Given the description of an element on the screen output the (x, y) to click on. 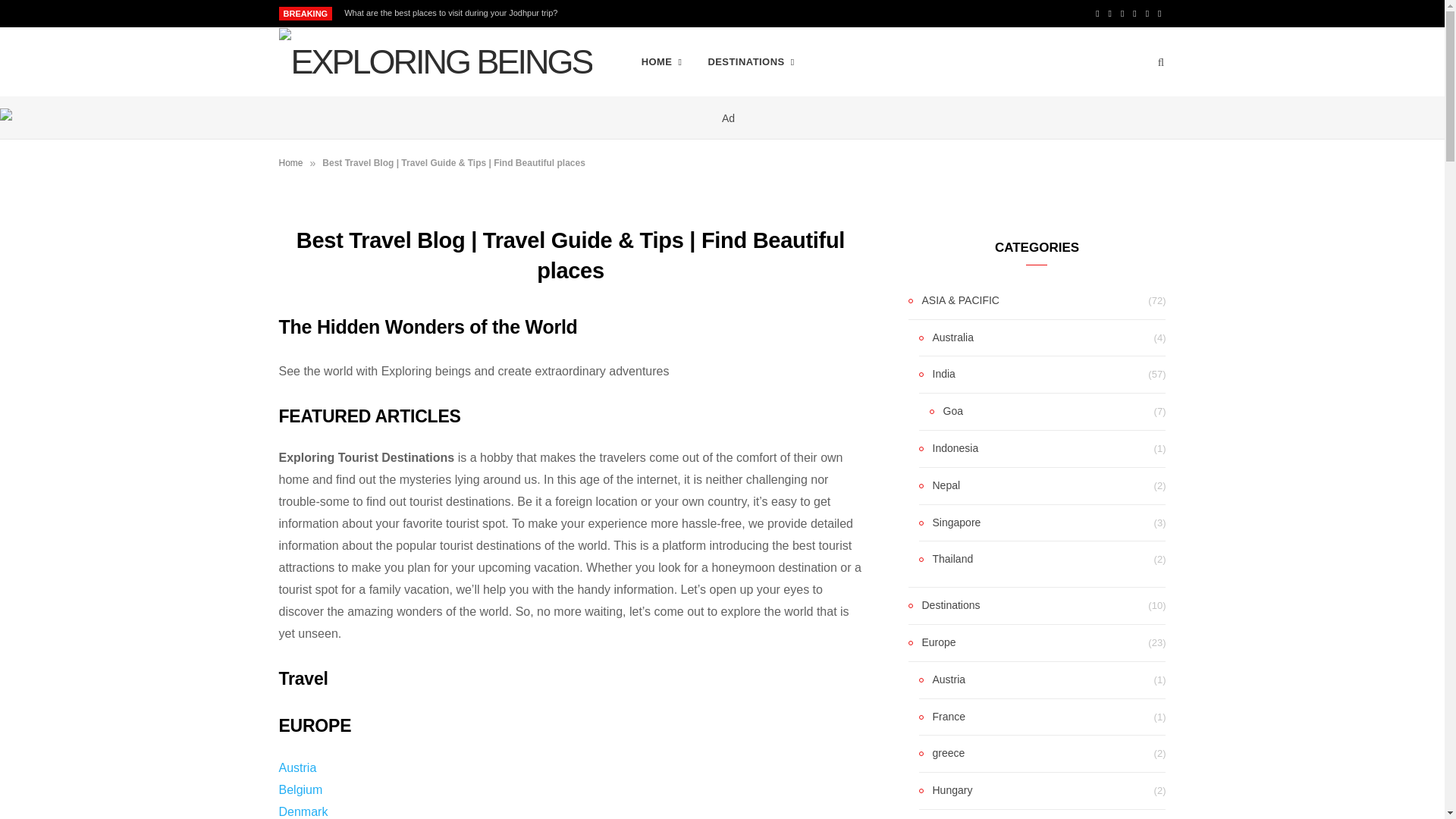
What are the best places to visit during your Jodhpur trip? (453, 12)
DESTINATIONS (750, 61)
HOME (662, 61)
What are the best places to visit during your Jodhpur trip? (453, 12)
Exploring Beings (435, 61)
